Given the description of an element on the screen output the (x, y) to click on. 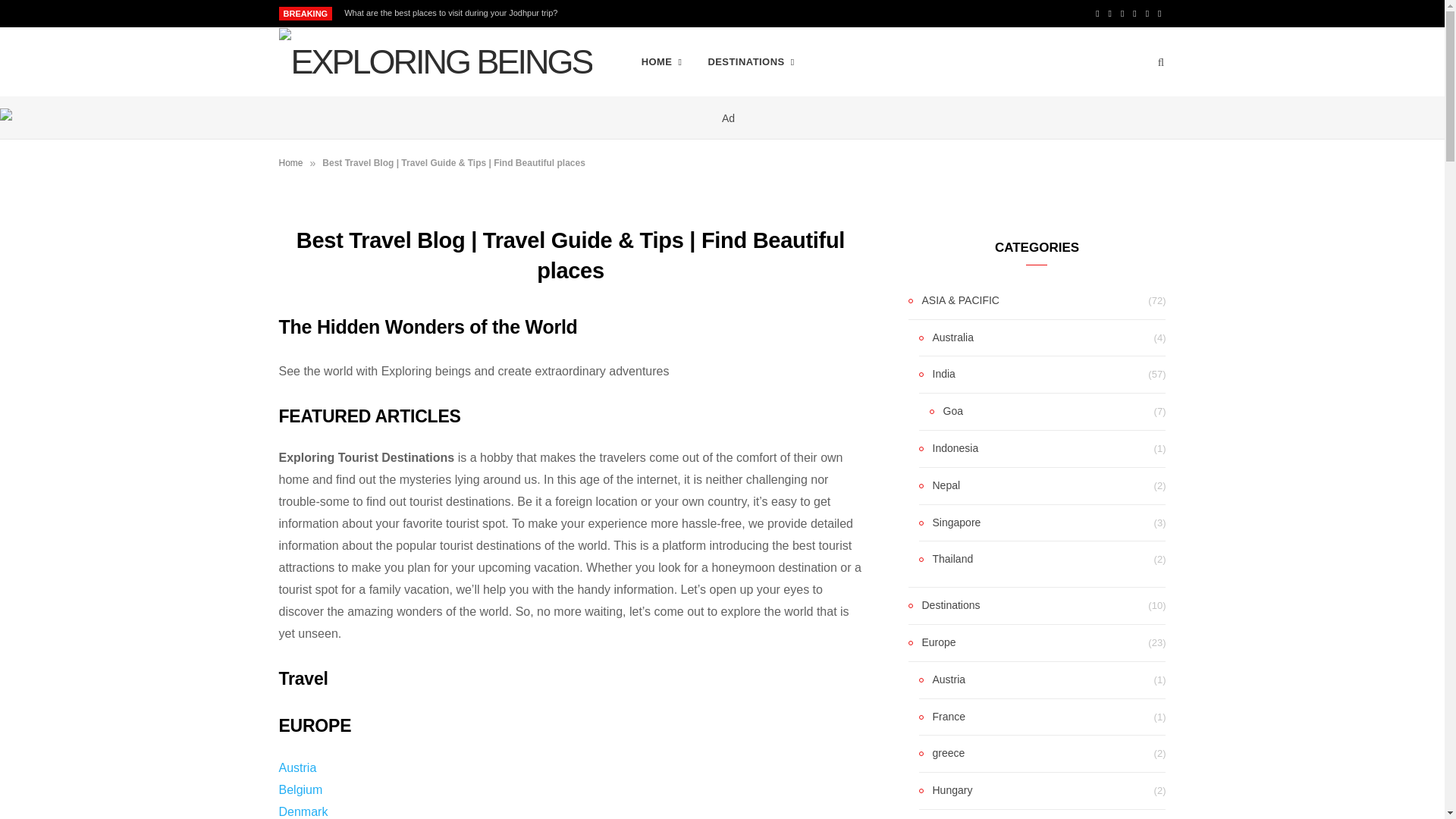
What are the best places to visit during your Jodhpur trip? (453, 12)
DESTINATIONS (750, 61)
HOME (662, 61)
What are the best places to visit during your Jodhpur trip? (453, 12)
Exploring Beings (435, 61)
